Given the description of an element on the screen output the (x, y) to click on. 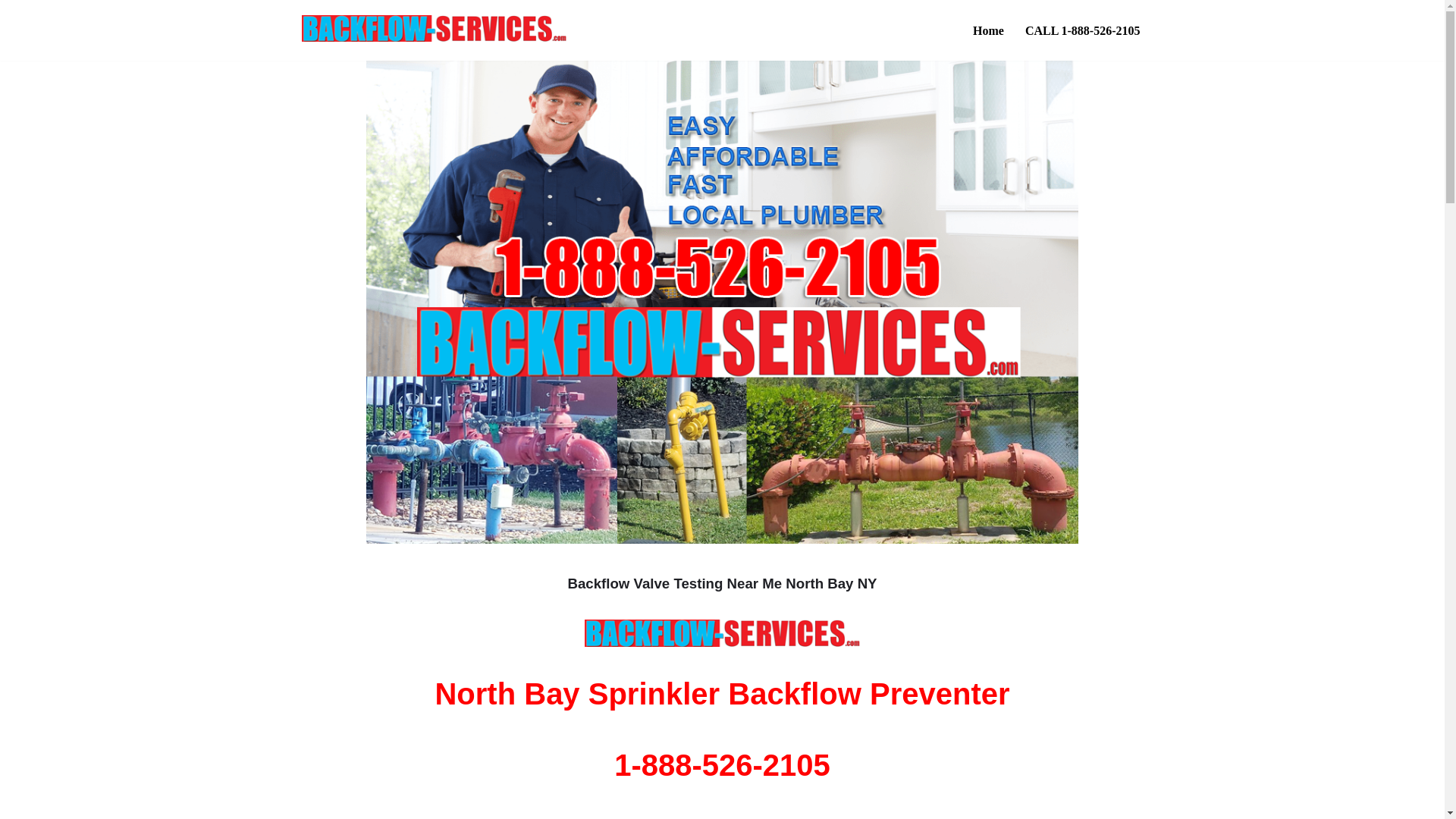
Skip to content (11, 31)
Home (988, 30)
CALL 1-888-526-2105 (1082, 30)
